Given the description of an element on the screen output the (x, y) to click on. 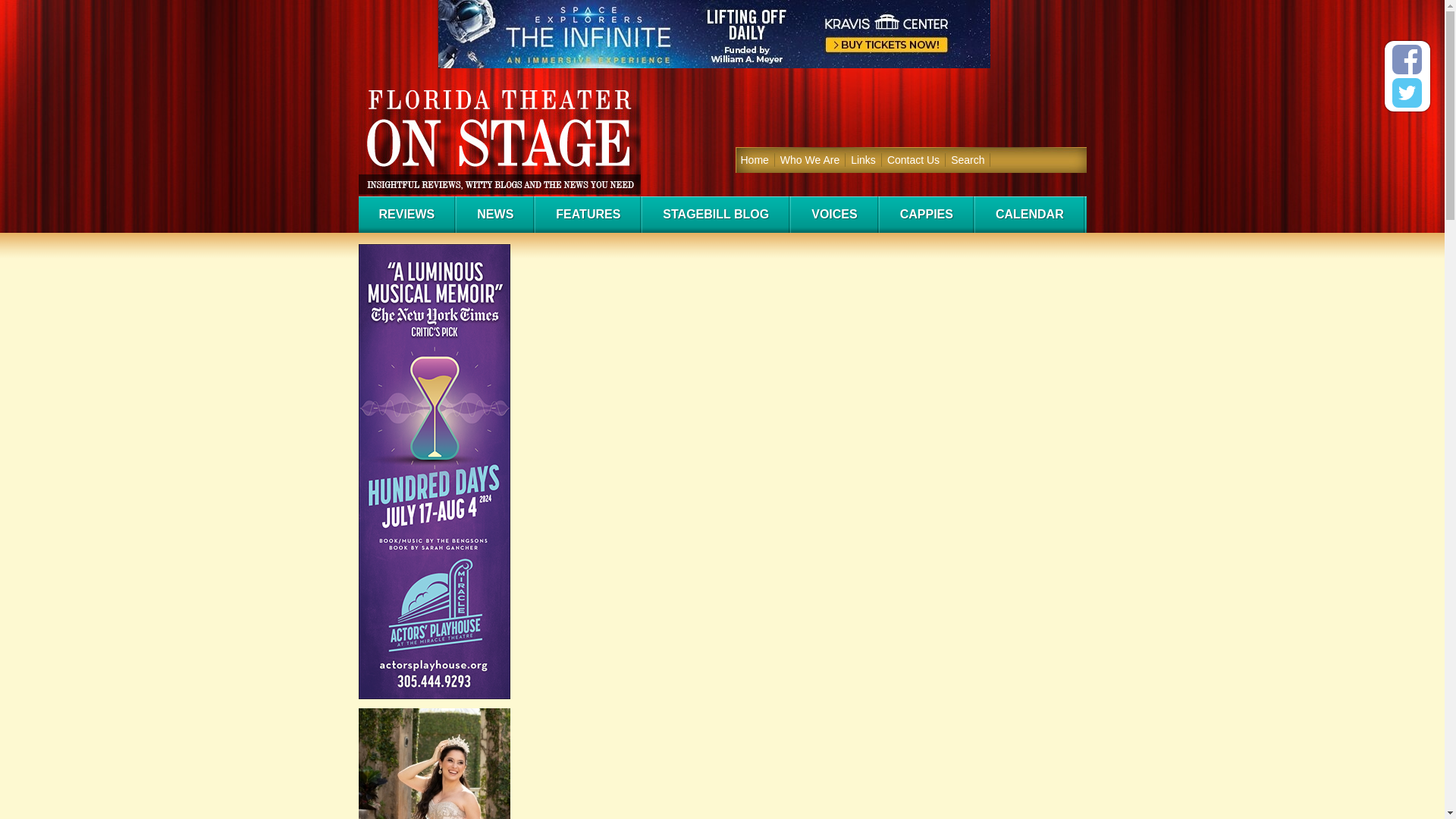
View Our Twitter Feed (1406, 92)
CAPPIES (925, 214)
CALENDAR (1029, 214)
Search (967, 160)
REVIEWS (406, 214)
Contact Us (913, 160)
Who We Are (809, 160)
STAGEBILL BLOG (715, 214)
NEWS (494, 214)
Links (863, 160)
